Given the description of an element on the screen output the (x, y) to click on. 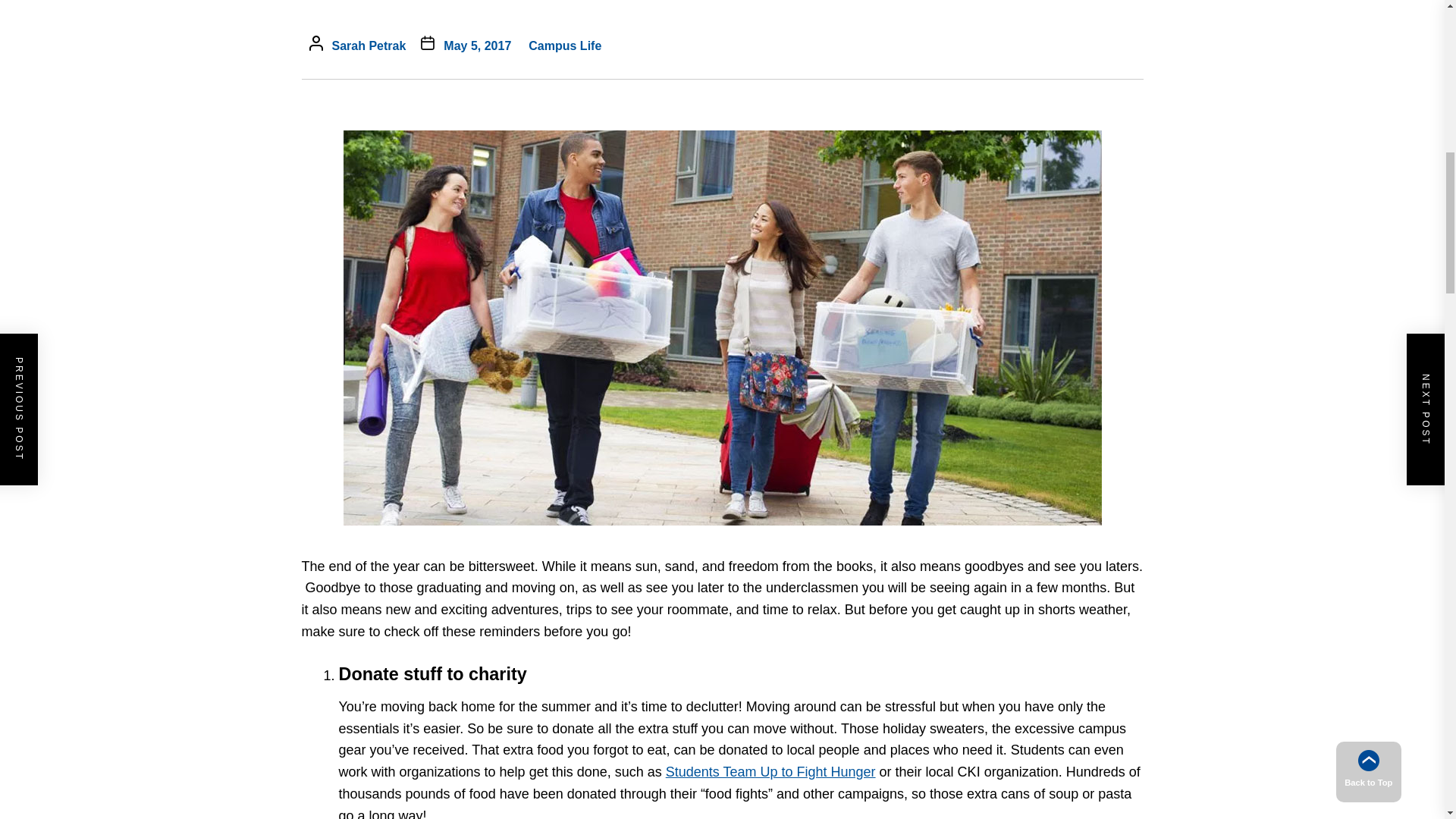
May 5, 2017 (477, 45)
Sarah Petrak (368, 45)
Campus Life (564, 45)
Students Team Up to Fight Hunger (770, 771)
